Given the description of an element on the screen output the (x, y) to click on. 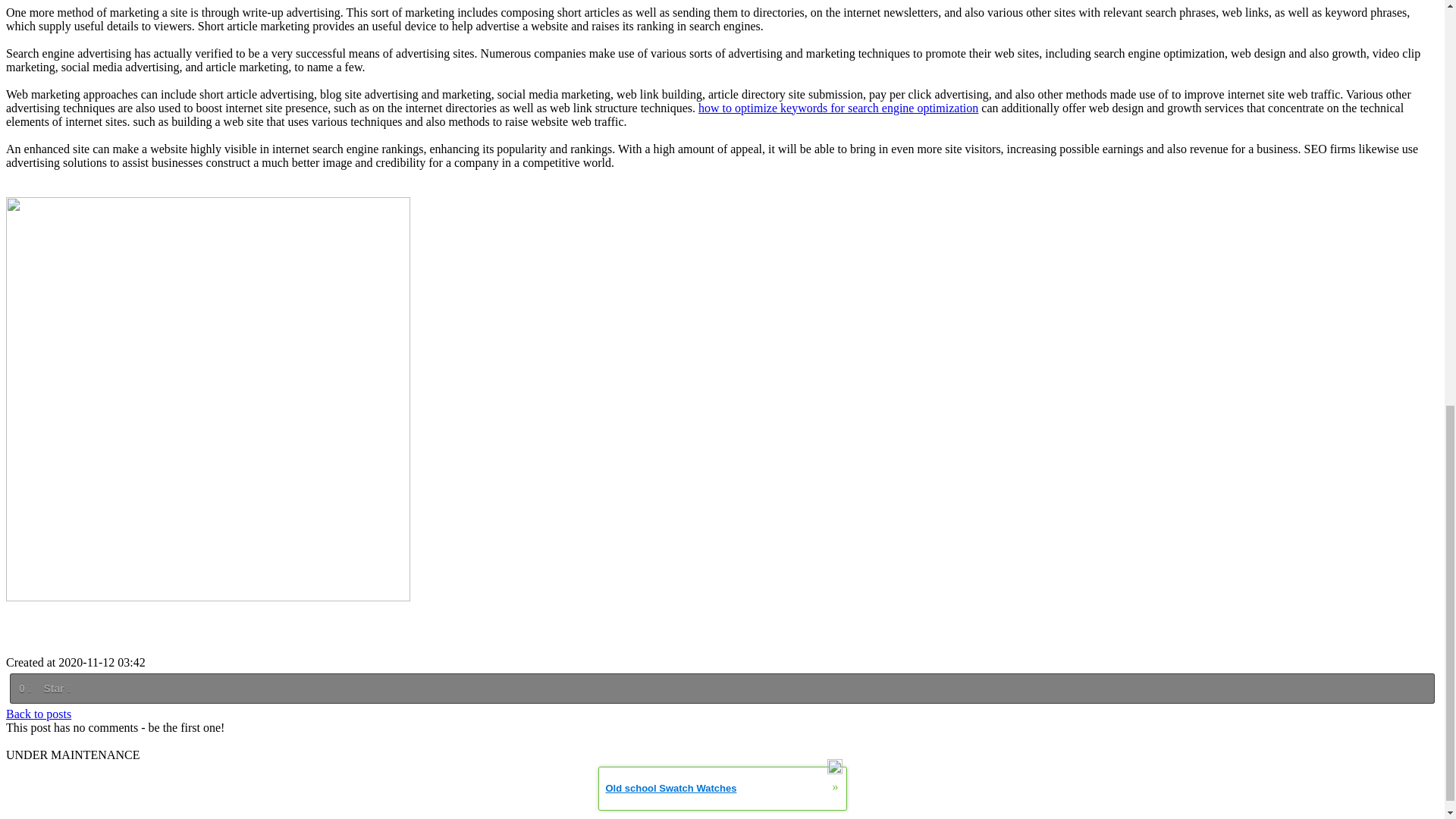
Star (56, 687)
how to optimize keywords for search engine optimization (838, 107)
0 (24, 687)
Back to posts (38, 712)
